Given the description of an element on the screen output the (x, y) to click on. 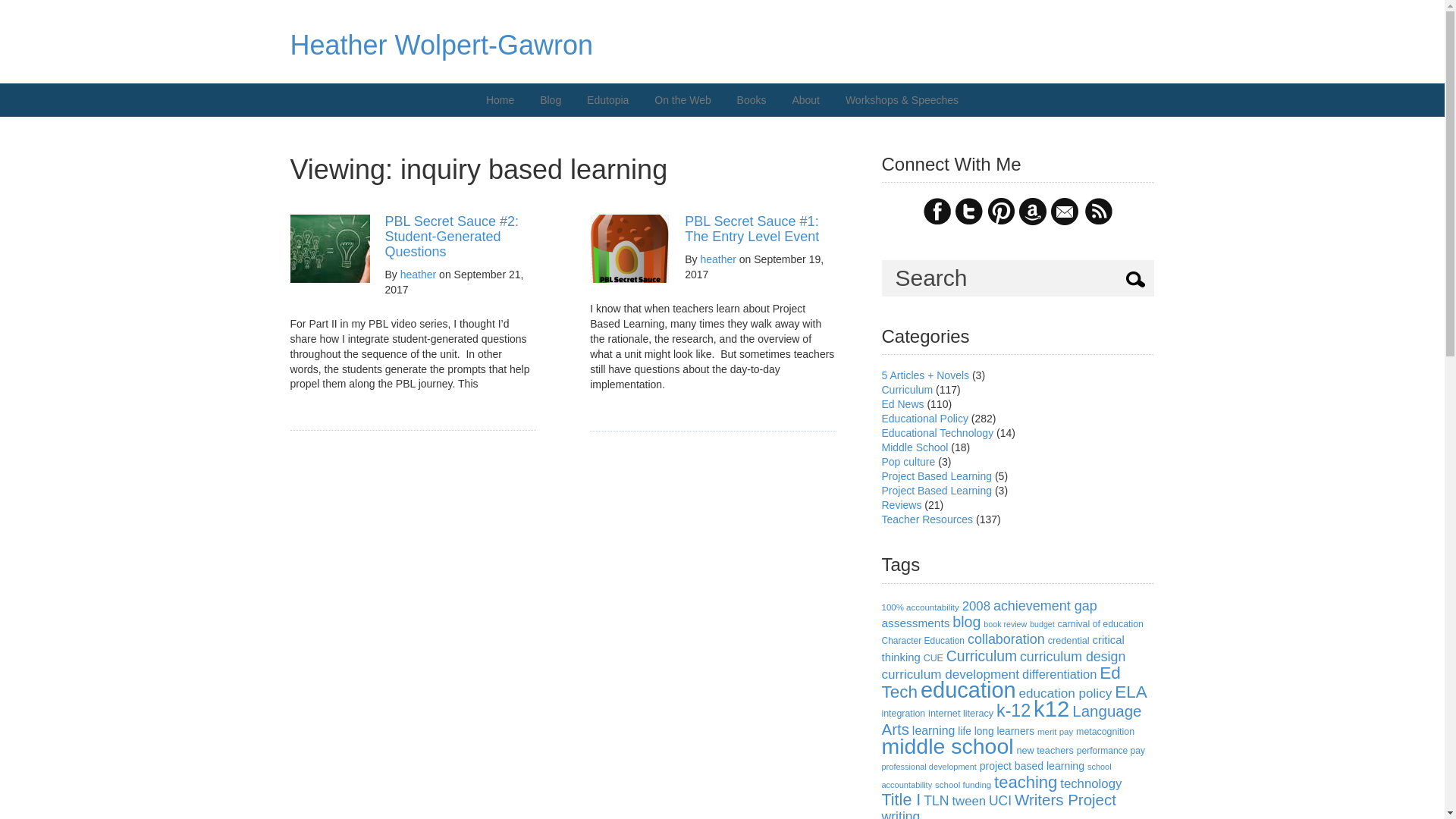
Heather Wolpert-Gawron (440, 44)
Posts by heather (417, 274)
Books (751, 100)
assessments (914, 622)
Home (499, 100)
Edutopia (607, 100)
Educational Policy (924, 418)
On the Web (682, 100)
Blog (550, 100)
Curriculum (906, 389)
Teacher Resources (926, 519)
Search (1017, 278)
Project Based Learning (935, 490)
Middle School (913, 447)
Blog (550, 100)
